Given the description of an element on the screen output the (x, y) to click on. 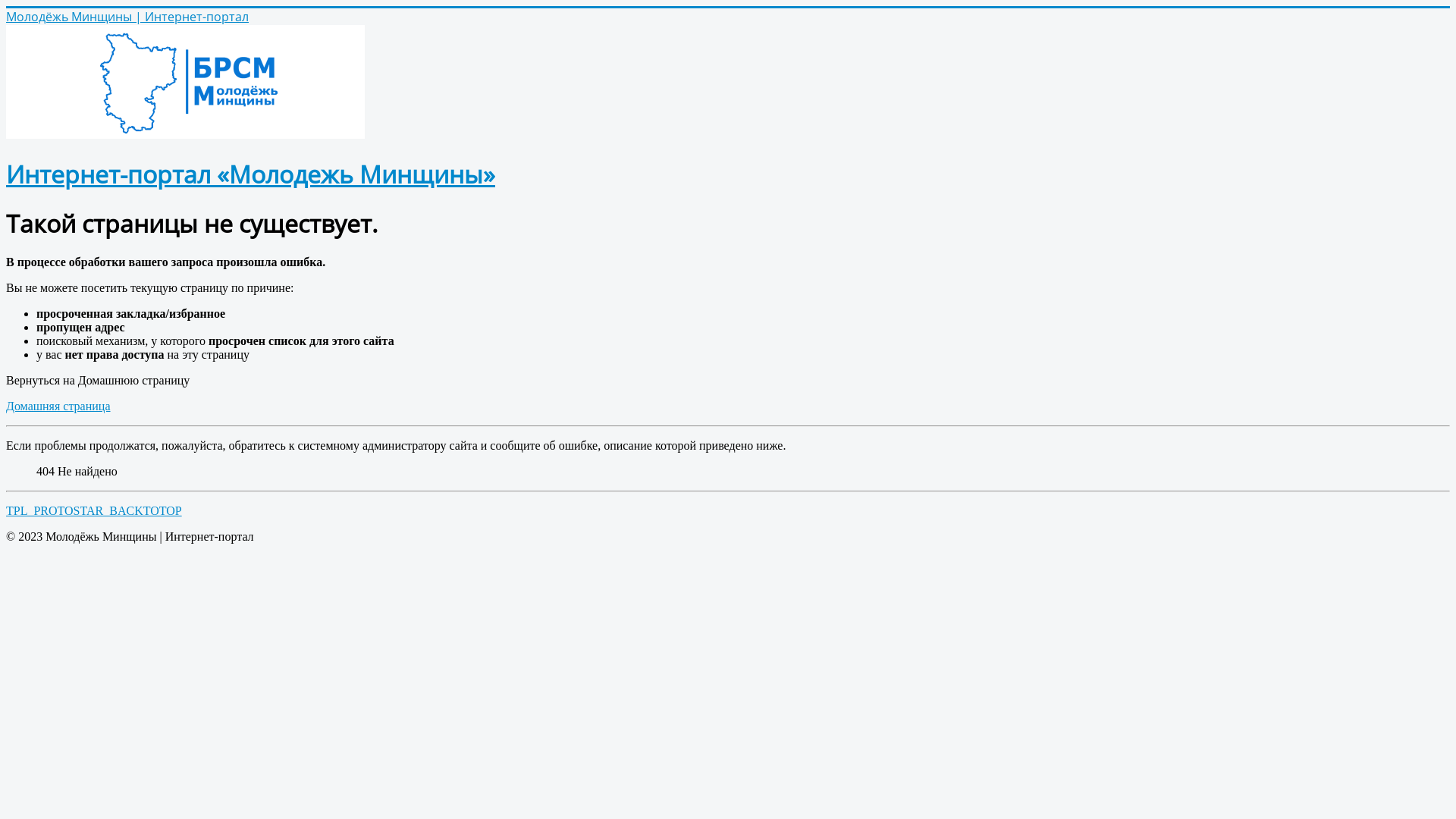
TPL_PROTOSTAR_BACKTOTOP Element type: text (94, 510)
